Given the description of an element on the screen output the (x, y) to click on. 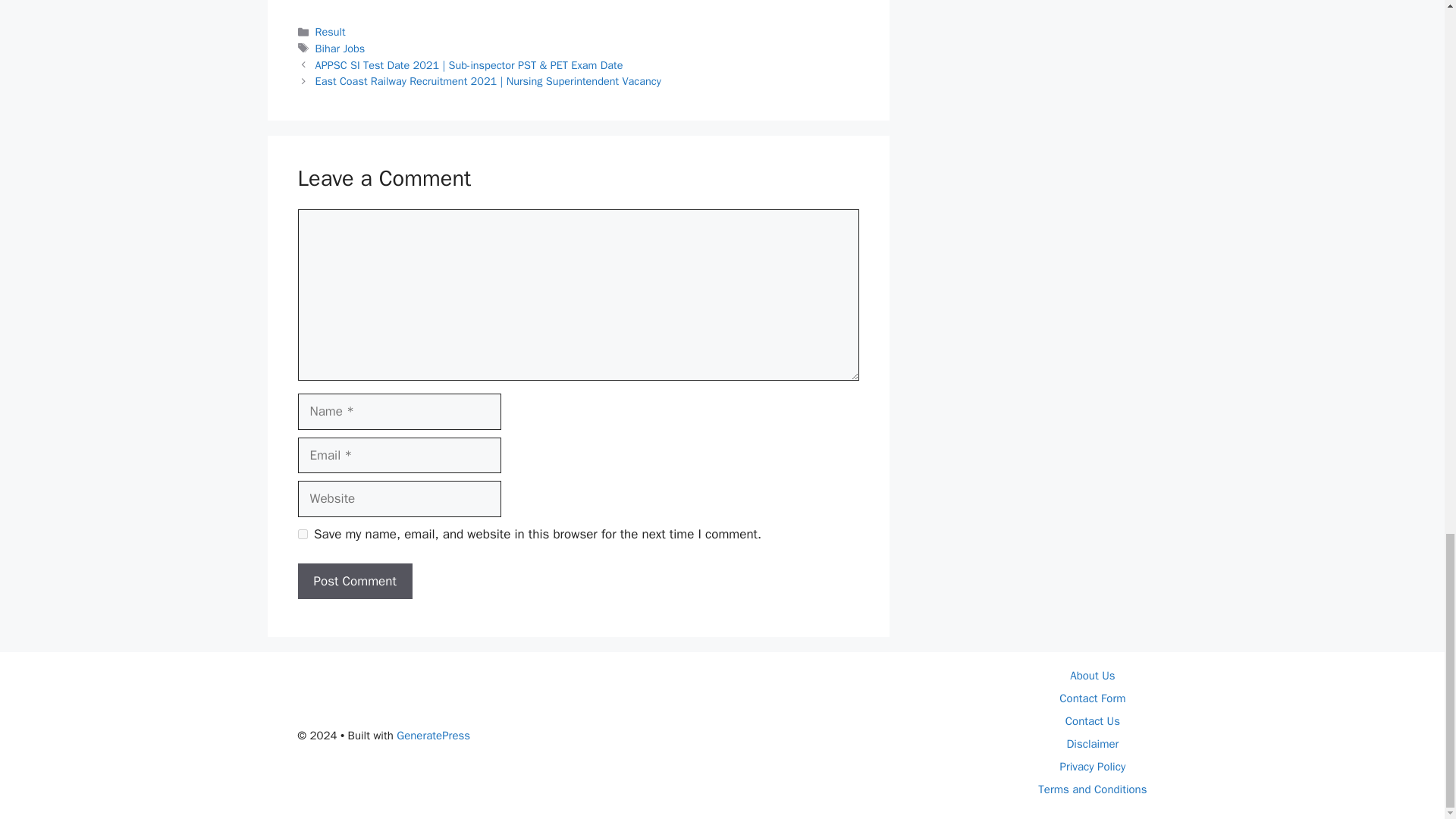
Contact Form (1092, 698)
Bihar Jobs (340, 48)
Privacy Policy (1092, 766)
Contact Us (1092, 721)
About Us (1092, 675)
Terms and Conditions (1092, 789)
GeneratePress (433, 735)
Disclaimer (1091, 744)
Post Comment (354, 581)
Result (330, 31)
